Given the description of an element on the screen output the (x, y) to click on. 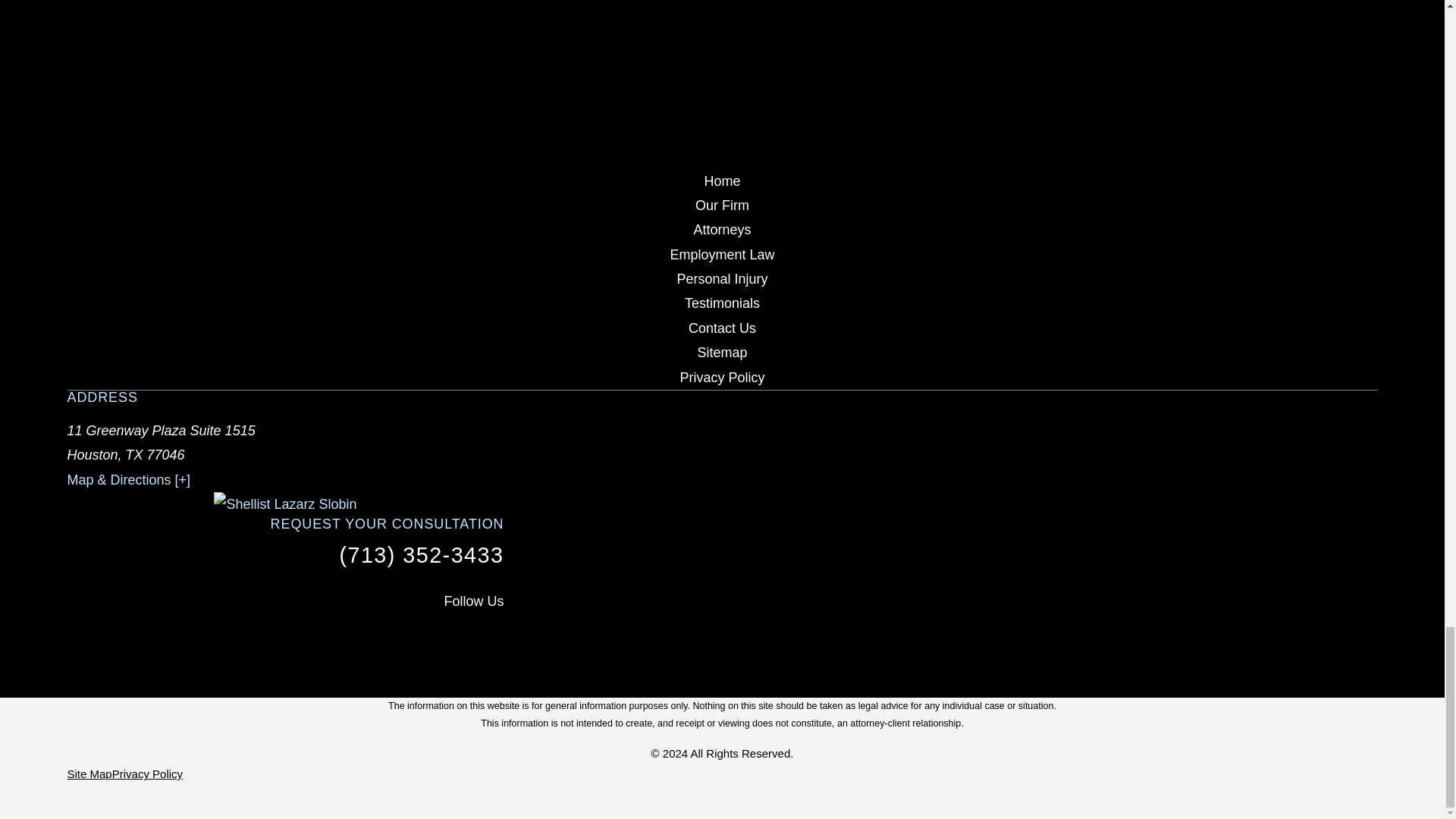
Twitter (444, 634)
Home (285, 504)
Facebook (396, 634)
Google Business Profile (493, 634)
